Given the description of an element on the screen output the (x, y) to click on. 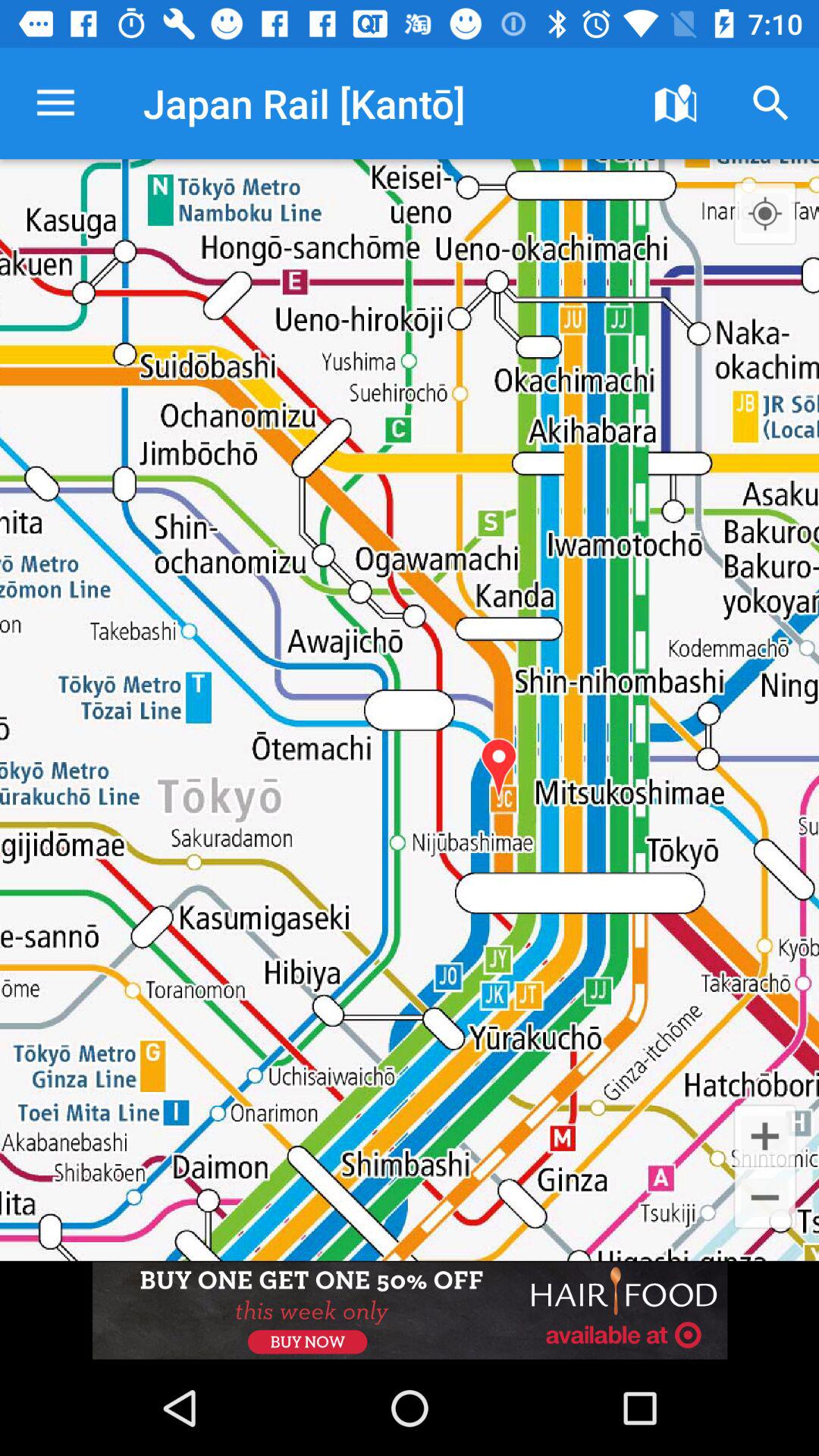
open this advertisement (409, 1310)
